Given the description of an element on the screen output the (x, y) to click on. 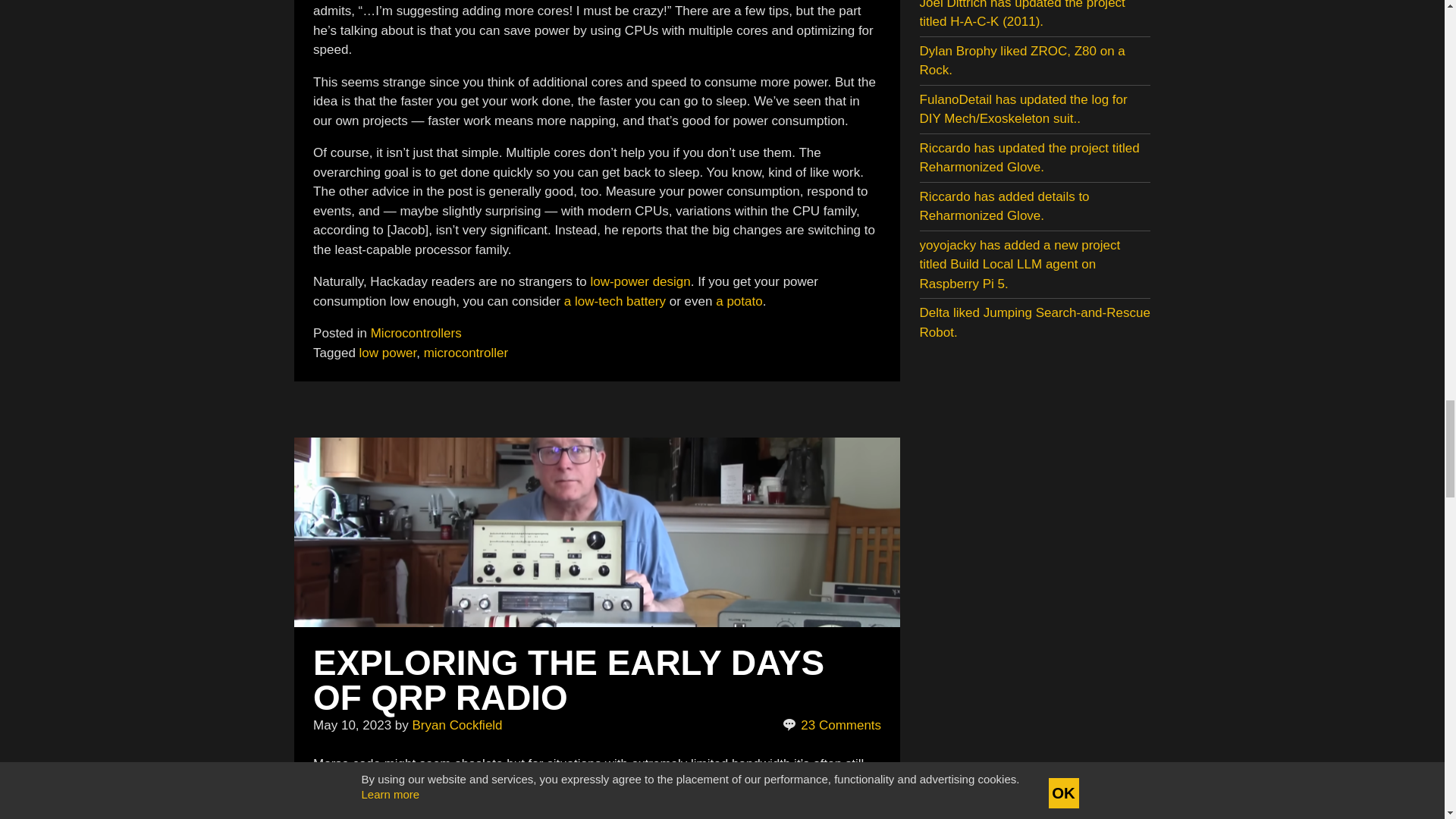
May 10, 2023 - 4:00 pm (352, 725)
Posts by Bryan Cockfield (457, 725)
